Given the description of an element on the screen output the (x, y) to click on. 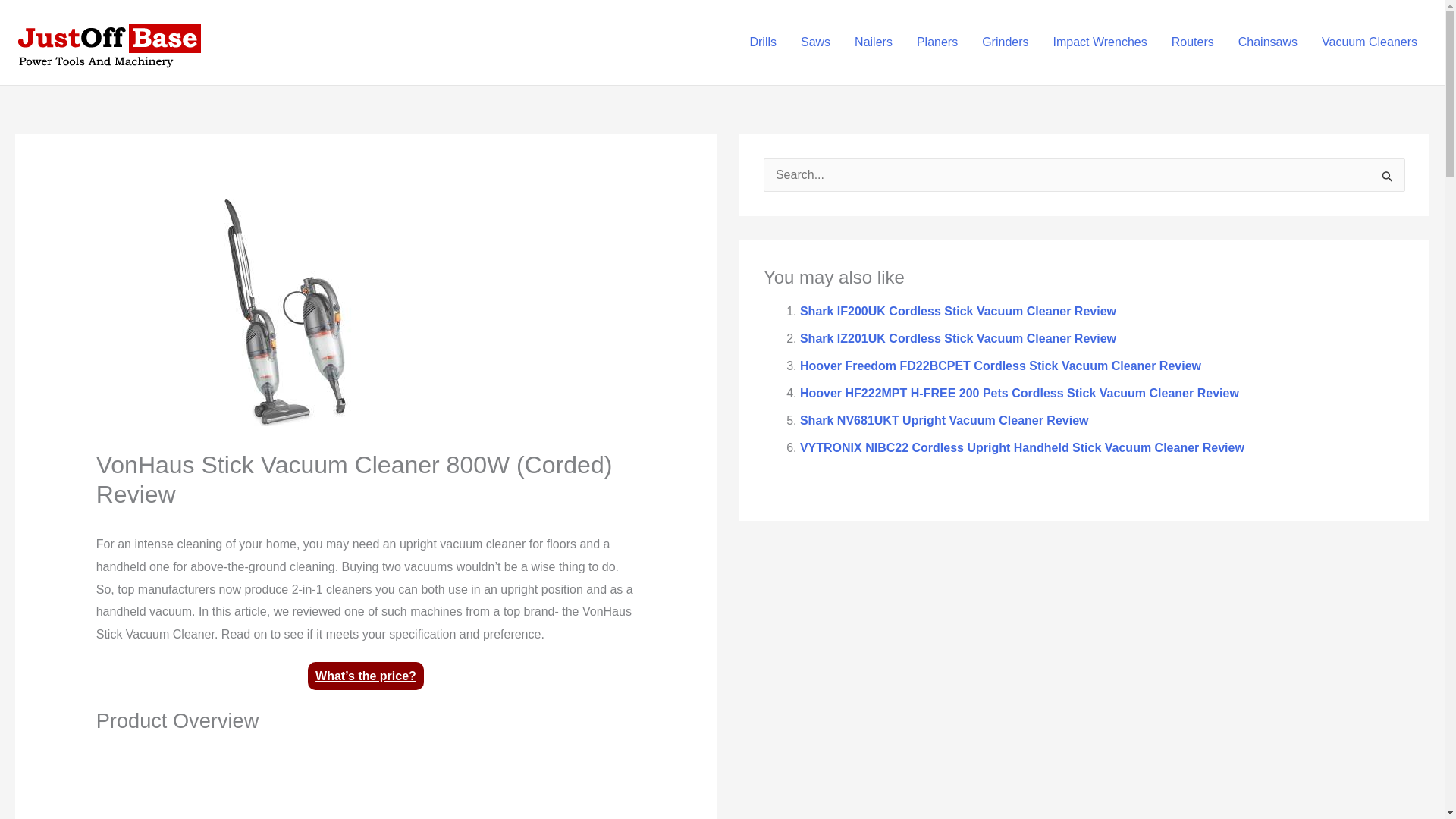
Impact Wrenches (1099, 42)
Vacuum Cleaners (1368, 42)
Grinders (1005, 42)
Chainsaws (1266, 42)
Routers (1191, 42)
Nailers (873, 42)
Planers (936, 42)
VonHaus 2 in 1 Stick Vacuum (366, 784)
